Given the description of an element on the screen output the (x, y) to click on. 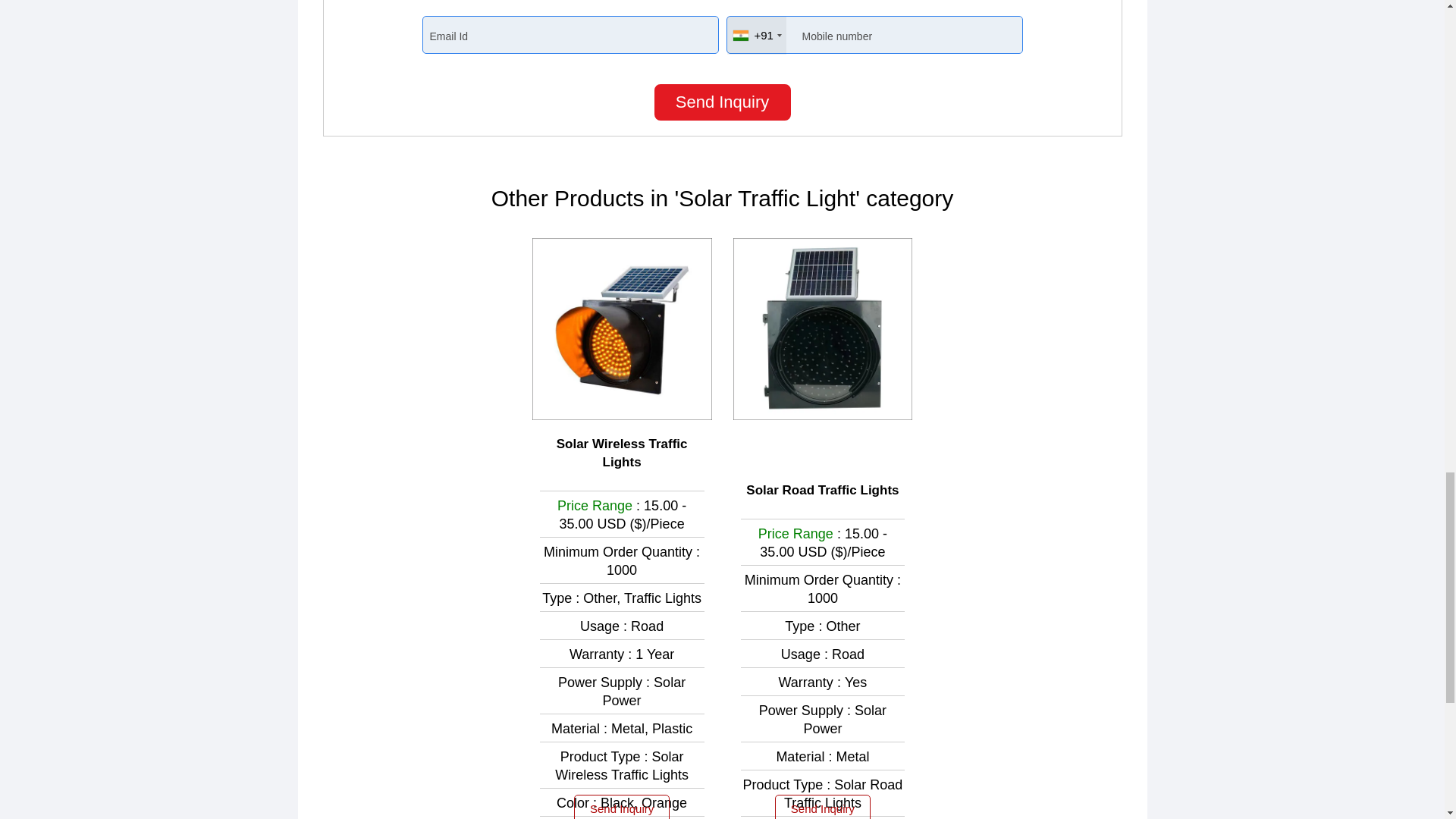
Send Inquiry (721, 102)
